Given the description of an element on the screen output the (x, y) to click on. 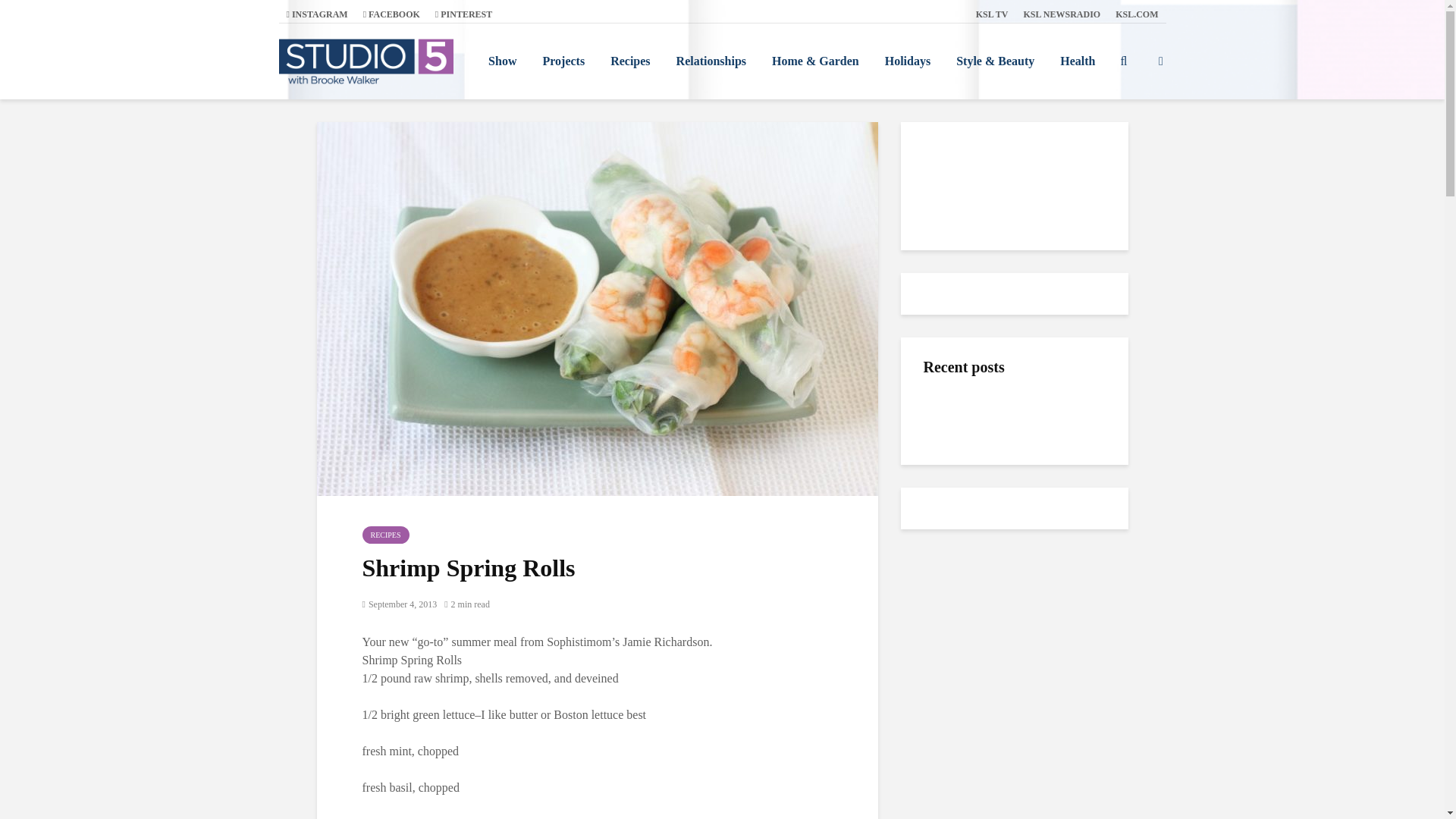
FACEBOOK (391, 14)
Health (1077, 60)
INSTAGRAM (317, 14)
Projects (563, 60)
Relationships (711, 60)
KSL NEWSRADIO (1061, 14)
Recipes (629, 60)
Show (502, 60)
KSL TV (992, 14)
KSL.COM (1137, 14)
PINTEREST (463, 14)
RECIPES (385, 534)
Holidays (907, 60)
